Given the description of an element on the screen output the (x, y) to click on. 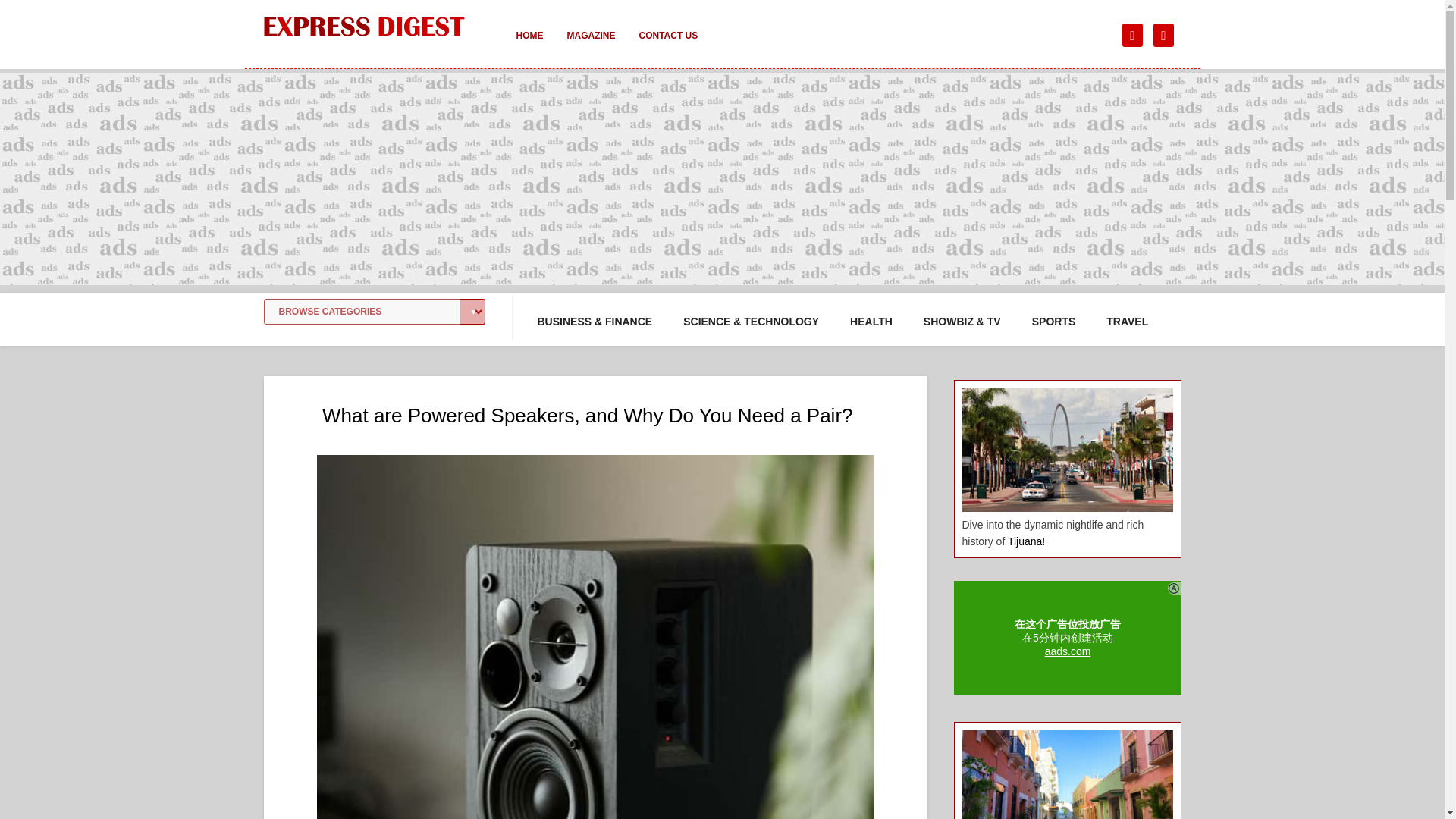
Tijuana! (1026, 541)
CONTACT US (667, 45)
TRAVEL (1127, 321)
HEALTH (871, 321)
SPORTS (1053, 321)
MAGAZINE (590, 45)
